Given the description of an element on the screen output the (x, y) to click on. 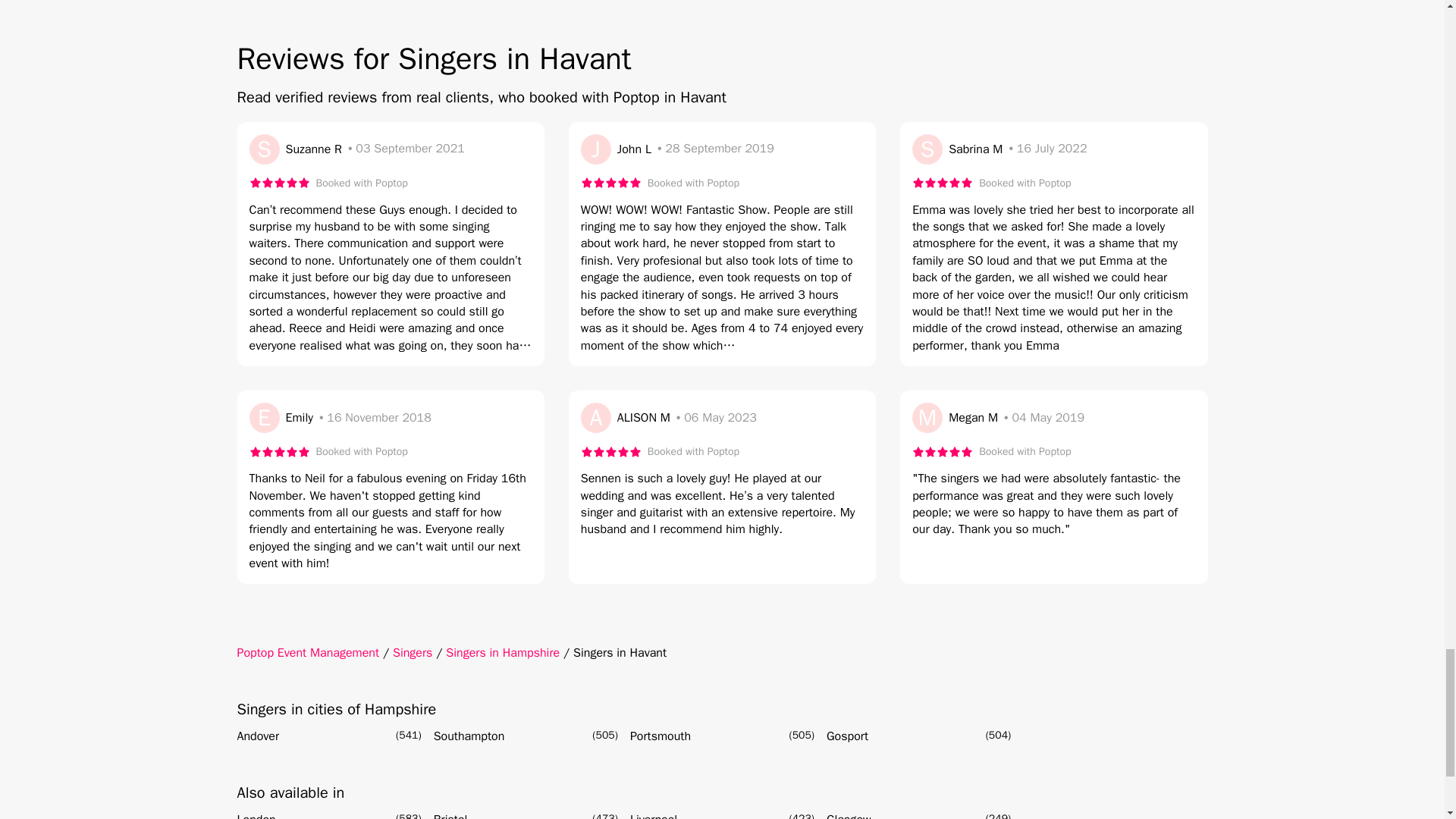
Liverpool (653, 814)
Glasgow (848, 814)
Singers in Hampshire (502, 652)
Southampton (469, 736)
Andover (257, 736)
London (255, 814)
Portsmouth (660, 736)
Bristol (450, 814)
Singers (412, 652)
Poptop Event Management (306, 652)
